Given the description of an element on the screen output the (x, y) to click on. 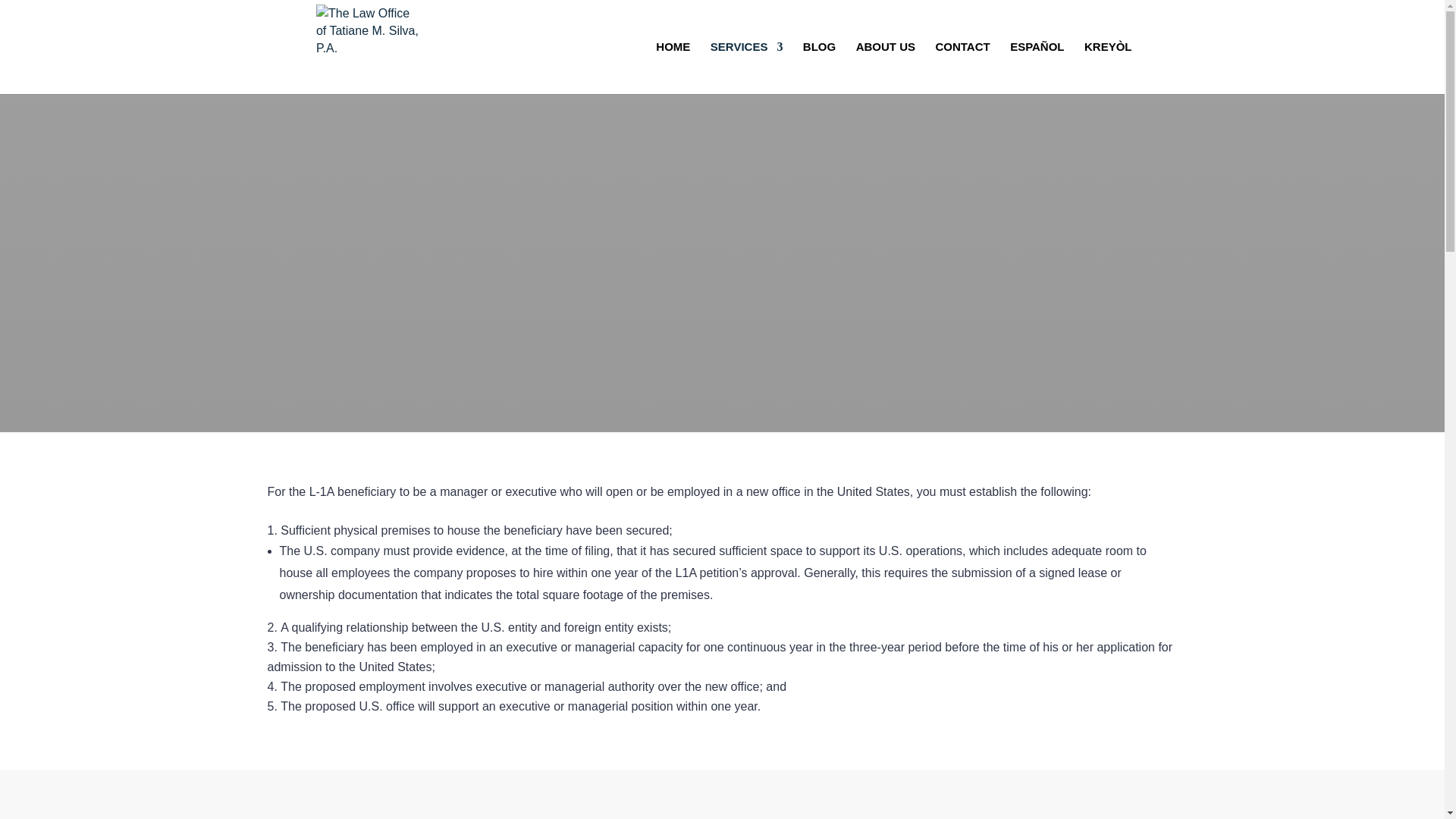
ABOUT US (885, 67)
SERVICES (746, 67)
CONTACT (962, 67)
